Given the description of an element on the screen output the (x, y) to click on. 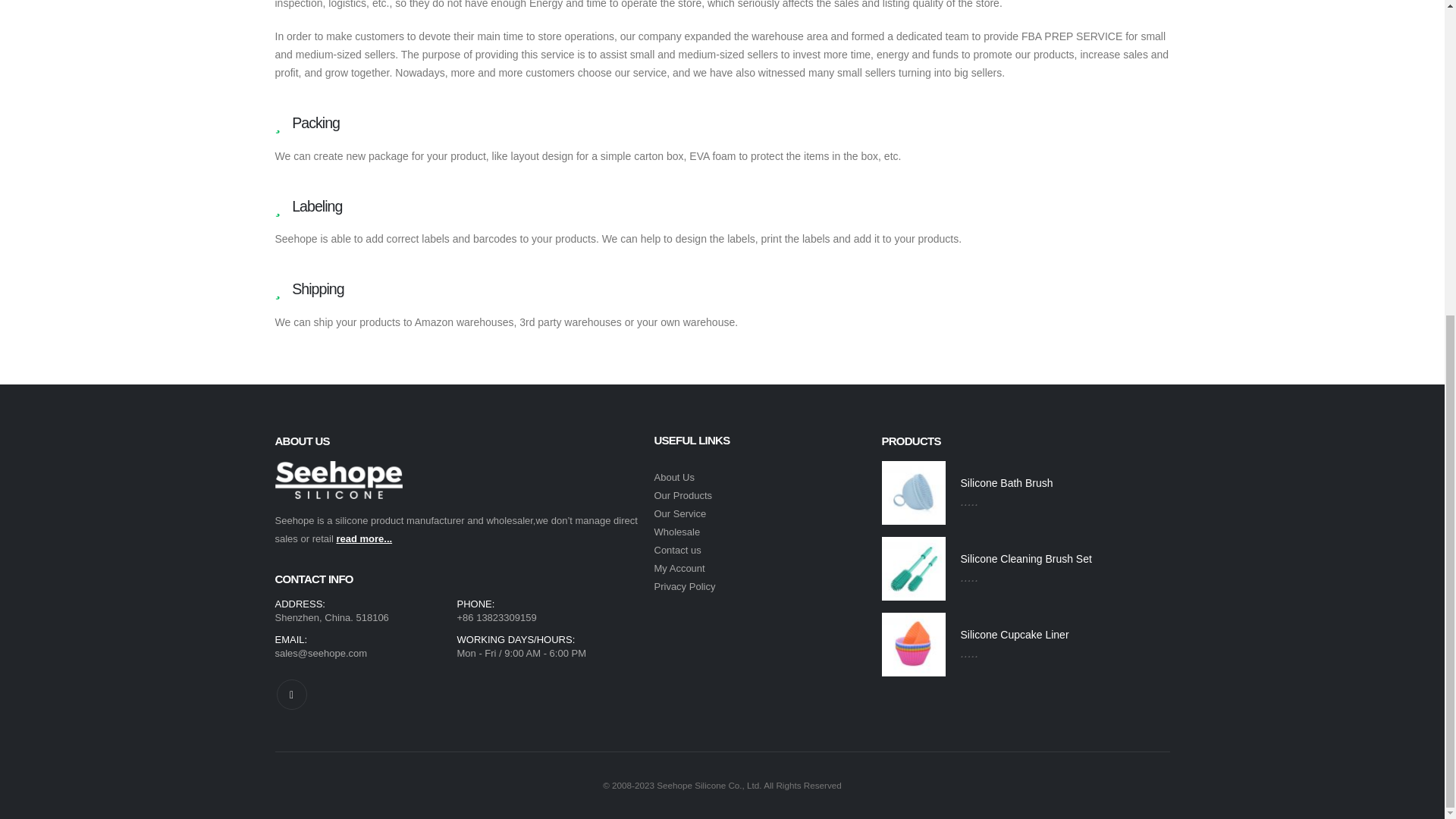
Silicone Cupcake Liner (1064, 635)
Silicone Bath Brush (1064, 483)
Instagram (290, 694)
About Us (673, 477)
Instagram (290, 694)
Silicone Bath Brush (1064, 483)
read more... (363, 538)
Silicone Bath Brush (912, 492)
Silicone Cleaning Brush Set (1064, 559)
